Given the description of an element on the screen output the (x, y) to click on. 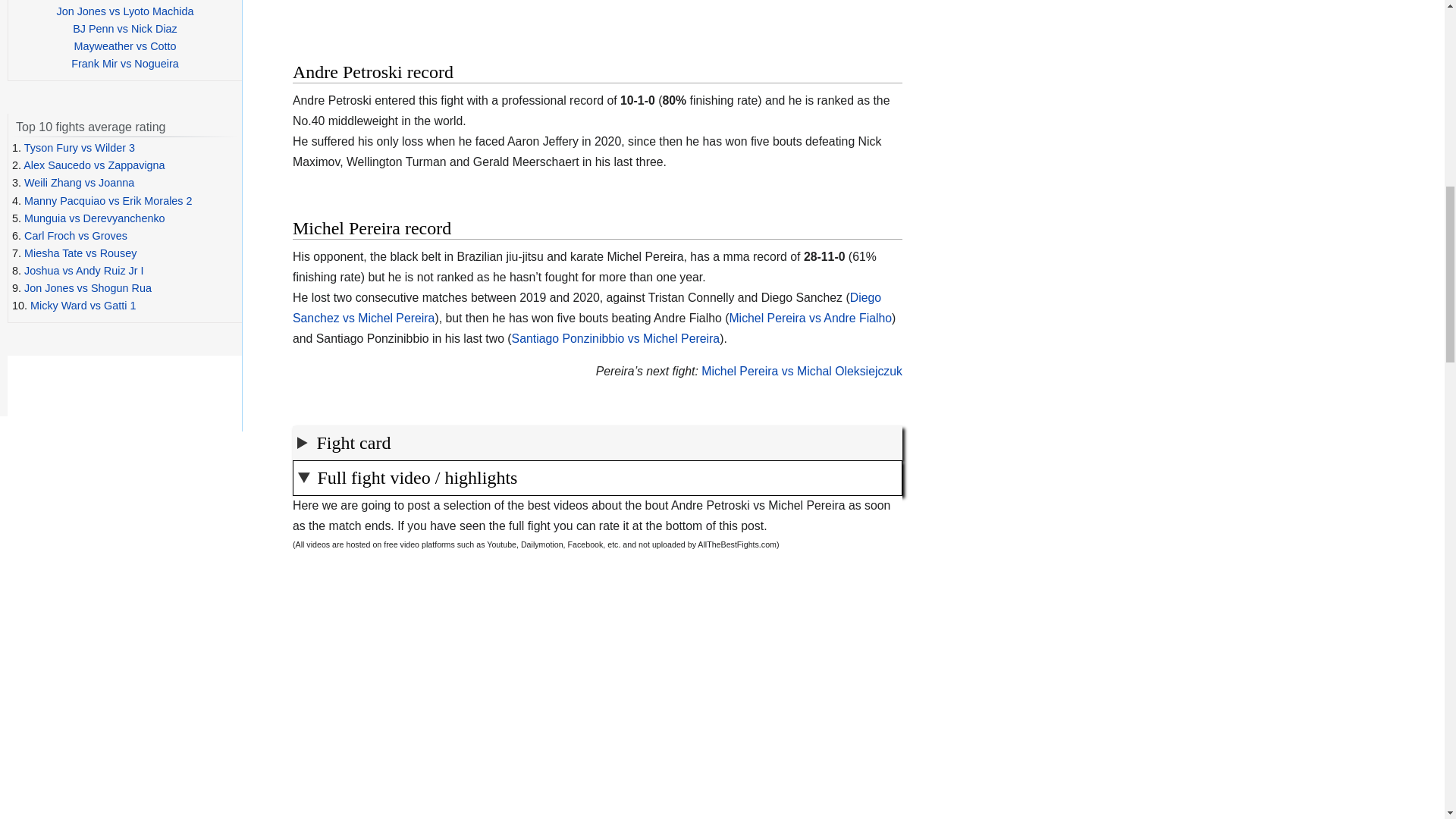
Michel Pereira vs Michal Oleksiejczuk (801, 370)
Michel Pereira vs Andre Fialho (810, 318)
Diego Sanchez vs Michel Pereira (586, 307)
Santiago Ponzinibbio vs Michel Pereira (616, 338)
